Given the description of an element on the screen output the (x, y) to click on. 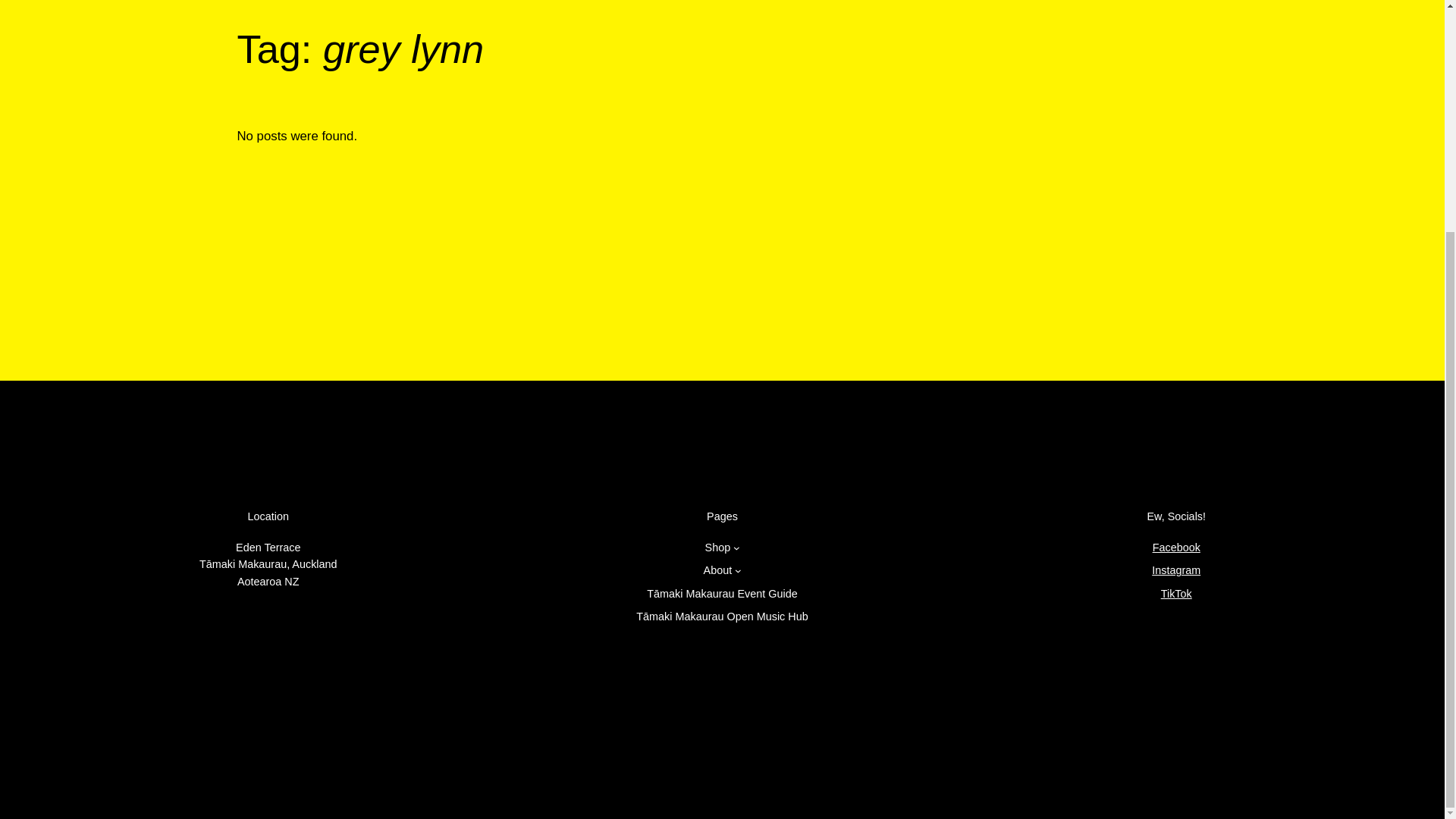
TikTok (1176, 593)
Facebook (1176, 547)
About (717, 569)
Shop (717, 547)
Instagram (1175, 570)
